Given the description of an element on the screen output the (x, y) to click on. 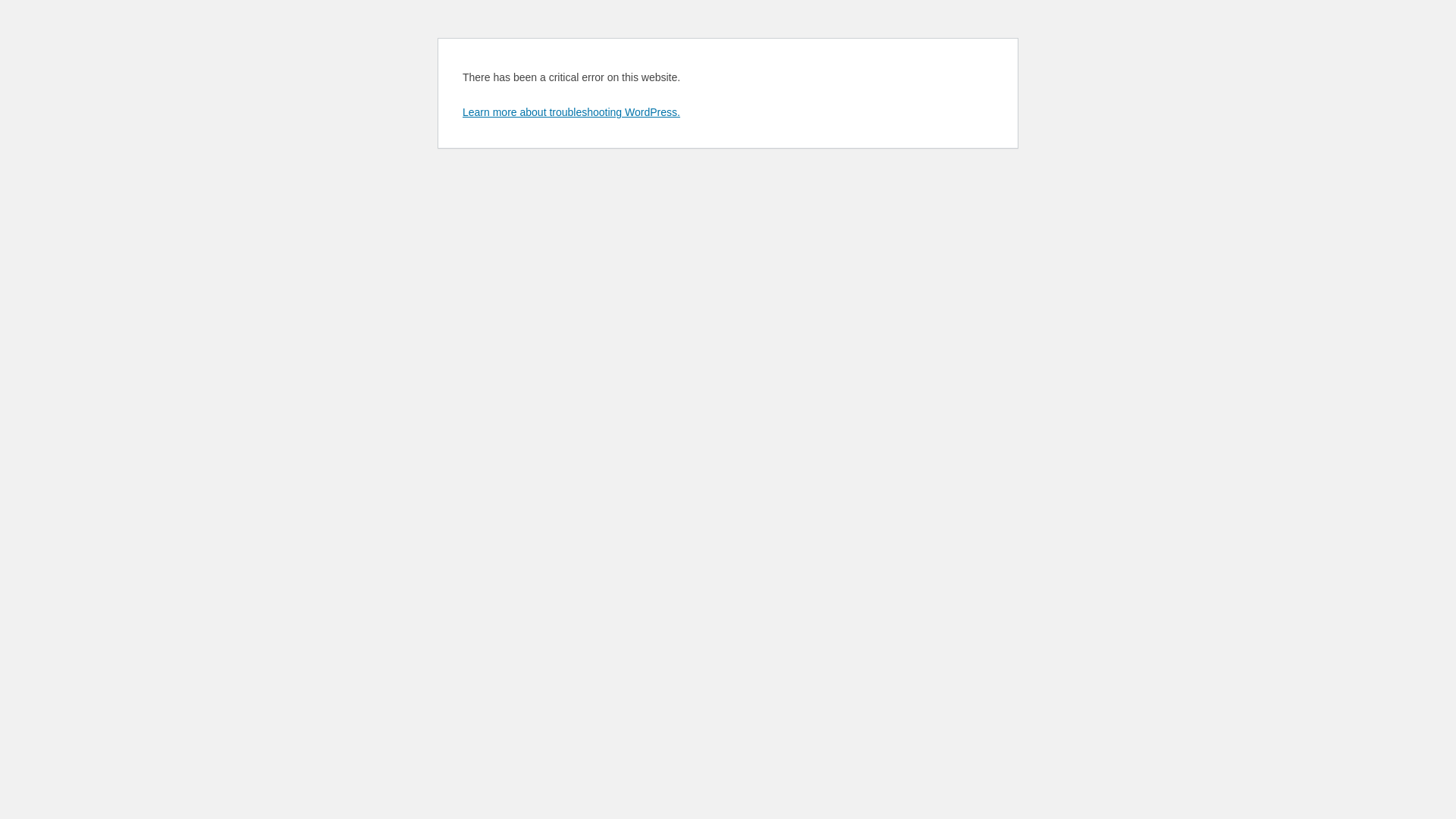
Learn more about troubleshooting WordPress. Element type: text (571, 112)
